Given the description of an element on the screen output the (x, y) to click on. 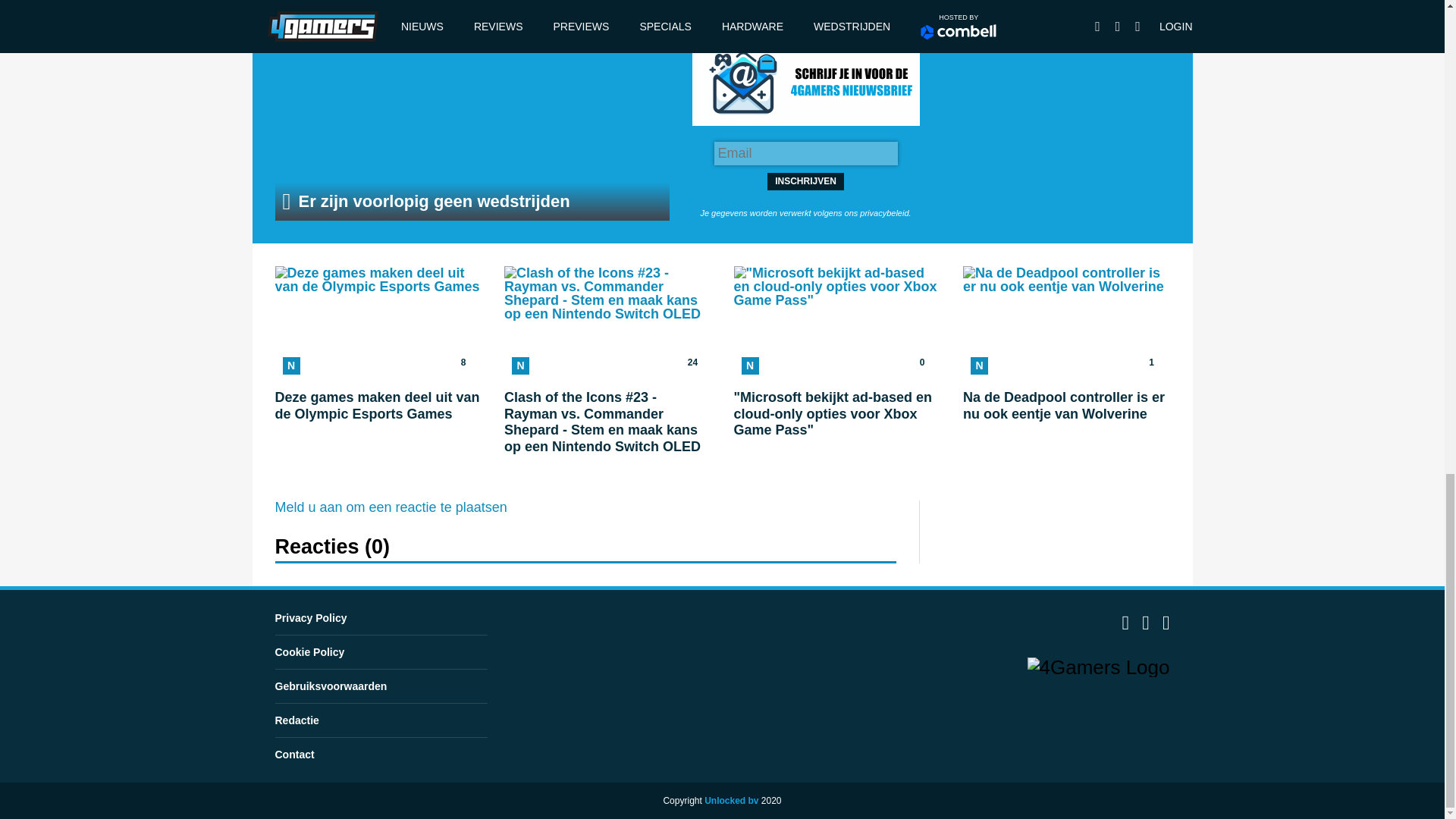
Inschrijven (805, 181)
Er zijn voorlopig geen wedstrijden (471, 125)
Privacy Policy (310, 617)
Inschrijven (805, 181)
Redactie (296, 720)
Facebook (1125, 626)
Gebruiksvoorwaarden (331, 686)
Meld u aan om een reactie te plaatsen (378, 360)
Twitter (390, 507)
Cookie Policy (1145, 626)
Contact (309, 652)
